Given the description of an element on the screen output the (x, y) to click on. 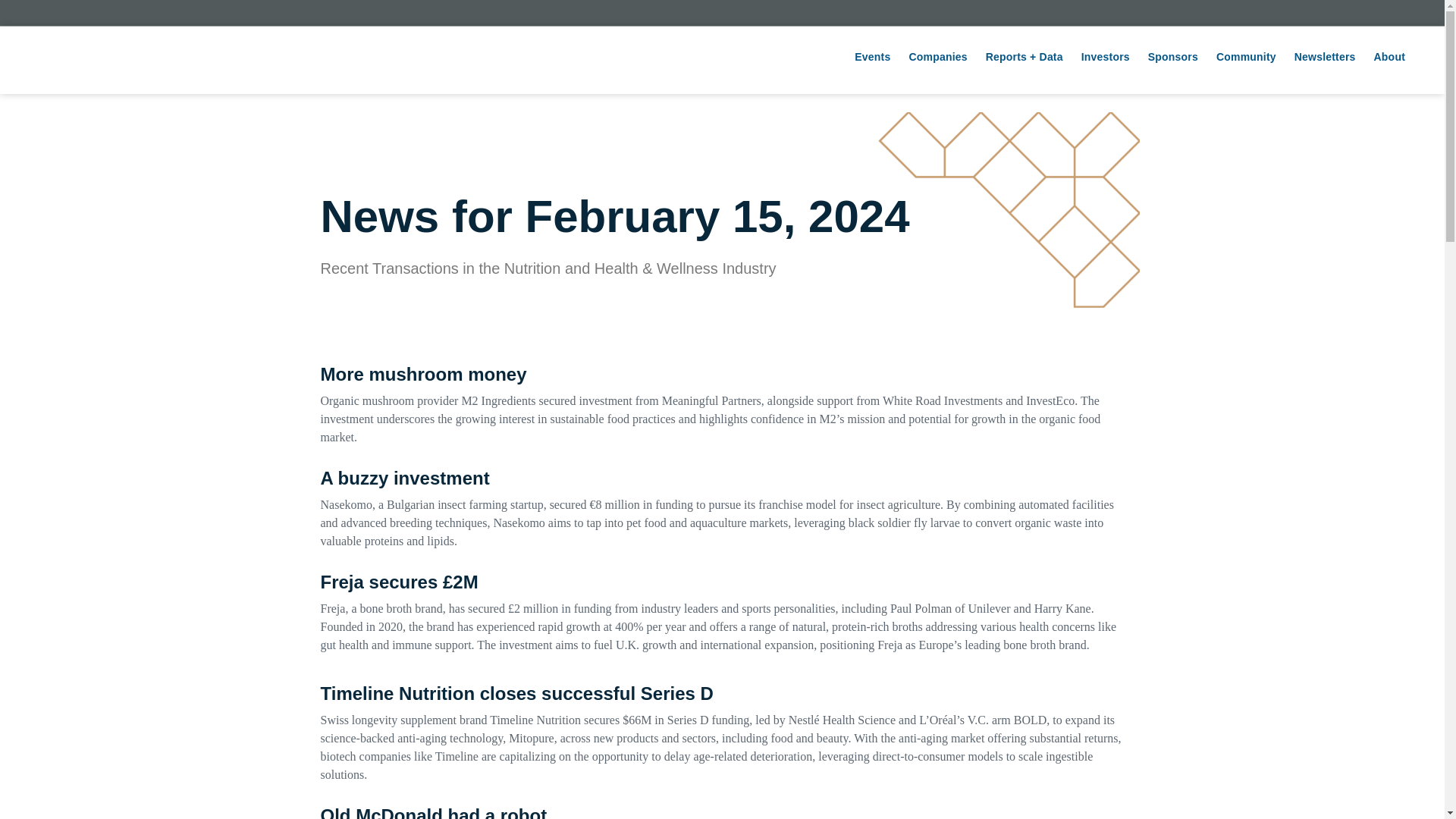
Sponsors (1172, 56)
Community (1246, 56)
About (1389, 56)
Investors (1104, 56)
Newsletters (1325, 56)
Companies (937, 56)
Events (872, 56)
Informa (722, 11)
